Given the description of an element on the screen output the (x, y) to click on. 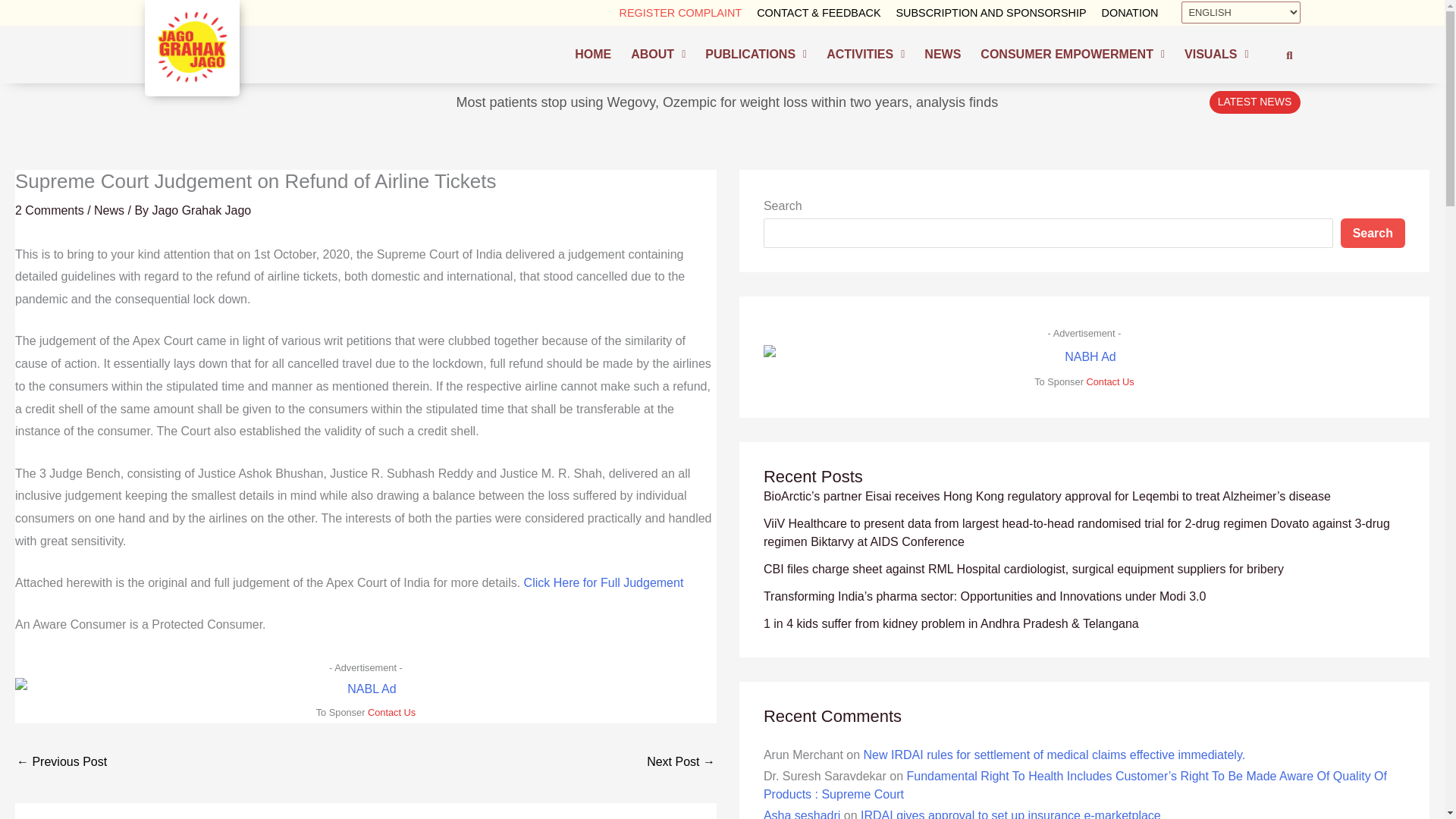
SUBSCRIPTION AND SPONSORSHIP (991, 12)
ACTIVITIES (865, 54)
PUBLICATIONS (755, 54)
REGISTER COMPLAINT (680, 12)
DONATION (1130, 12)
Objective and Structure Of ODR System For Digital Payments (61, 763)
What Kind Of Transactions Are Covered Under This System? (680, 763)
Search (1284, 54)
View all posts by Jago Grahak Jago (201, 210)
HOME (592, 54)
ABOUT (658, 54)
